Given the description of an element on the screen output the (x, y) to click on. 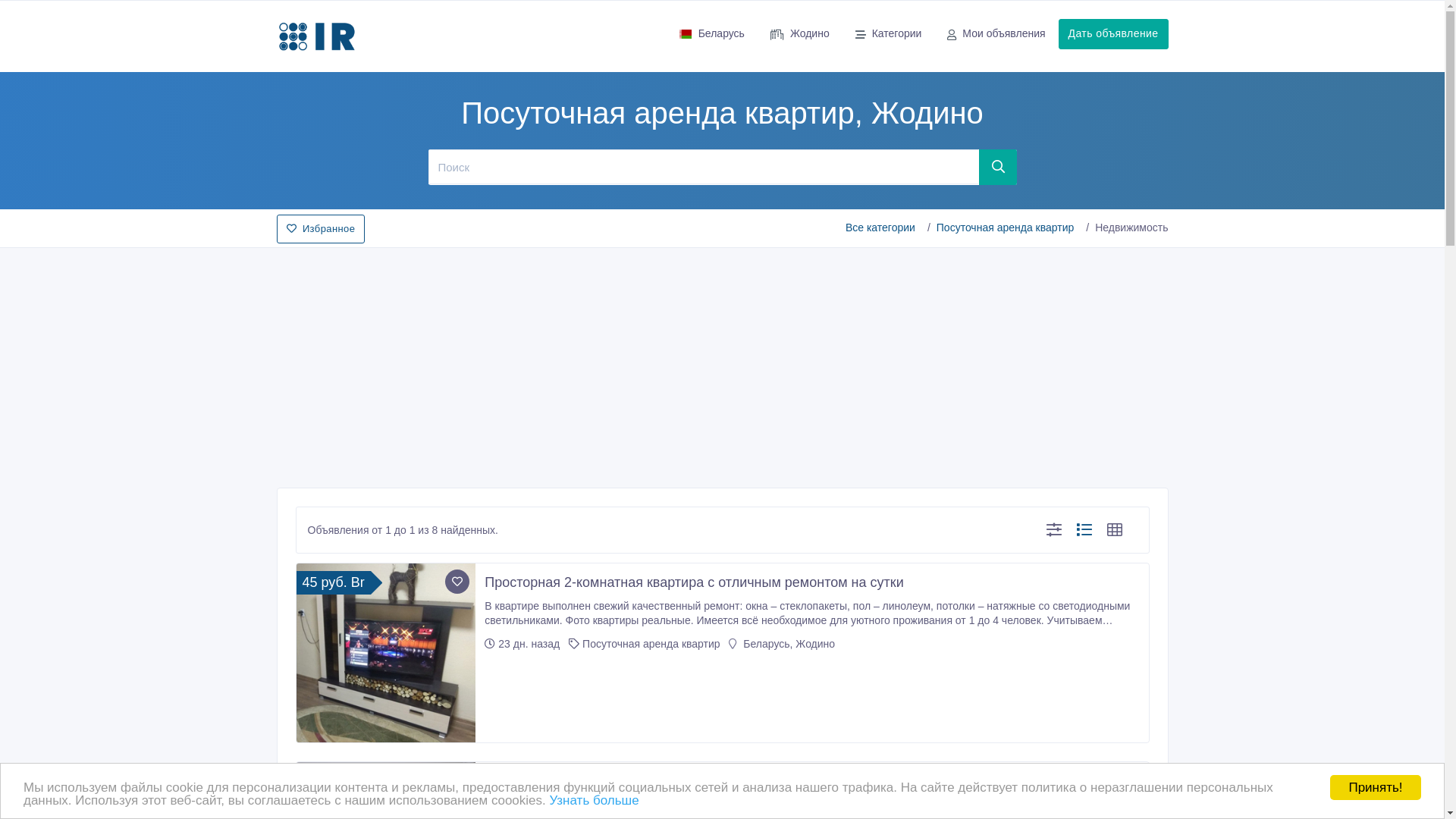
Add to favorite Element type: hover (457, 780)
Advertisement Element type: hover (721, 363)
Add to favorite Element type: hover (457, 581)
